Given the description of an element on the screen output the (x, y) to click on. 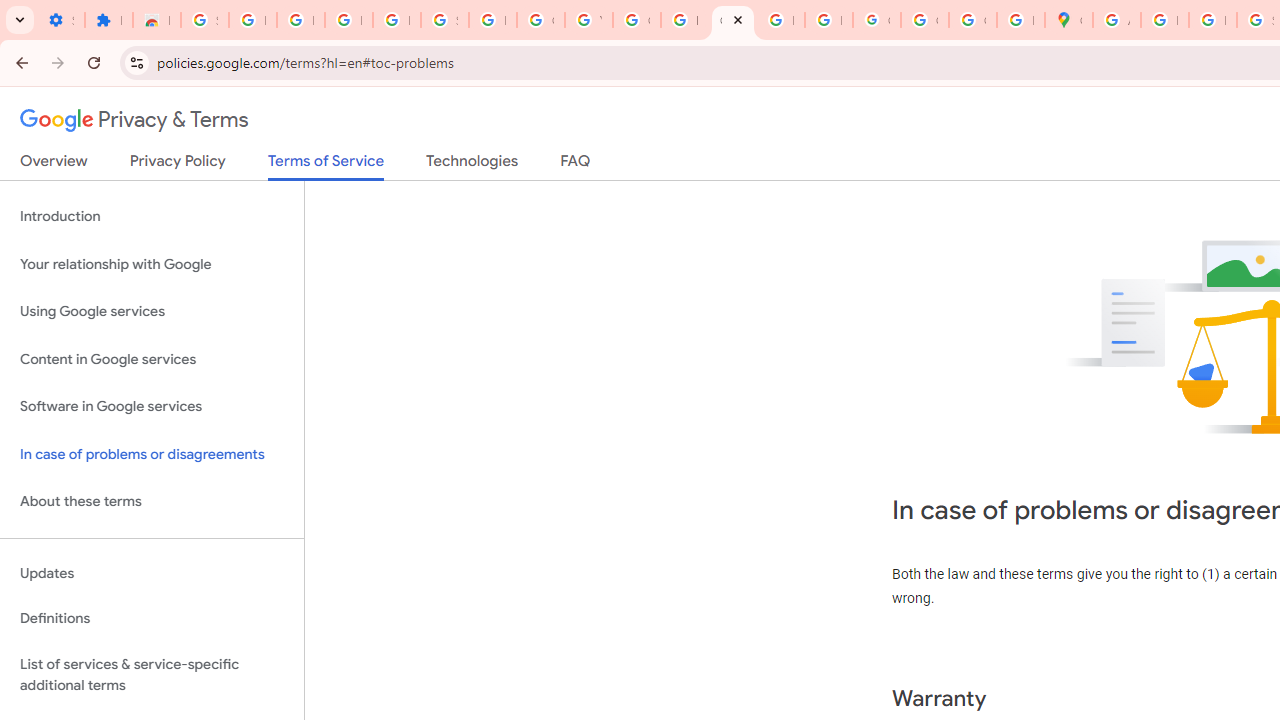
Using Google services (152, 312)
YouTube (588, 20)
Your relationship with Google (152, 263)
Reviews: Helix Fruit Jump Arcade Game (156, 20)
Sign in - Google Accounts (444, 20)
Google Account (540, 20)
